Given the description of an element on the screen output the (x, y) to click on. 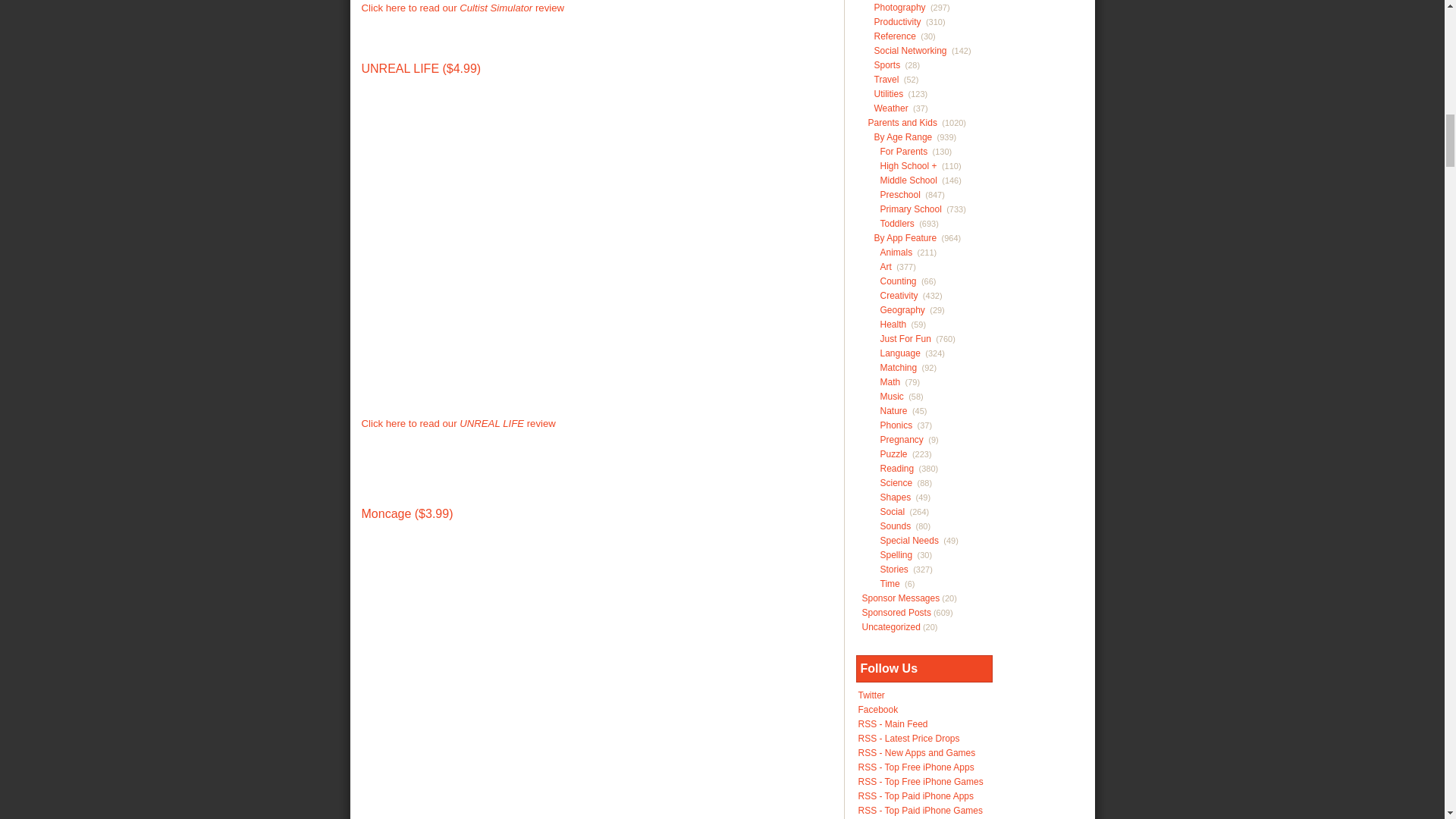
Click here to read our Cultist Simulator review (462, 7)
Click here to read our UNREAL LIFE review (457, 423)
